Given the description of an element on the screen output the (x, y) to click on. 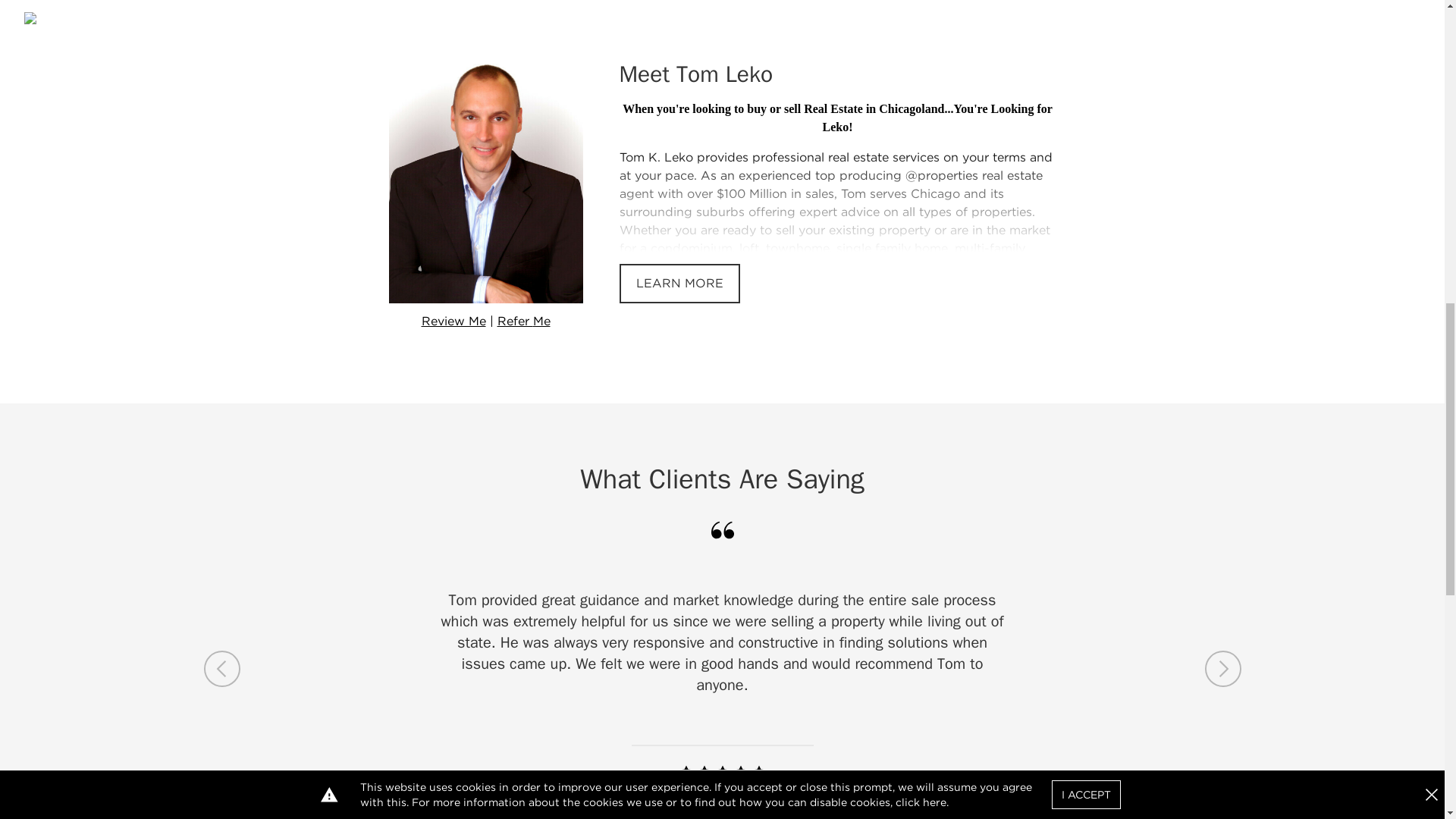
Review Me (454, 321)
LEARN MORE (678, 283)
Refer Me (523, 321)
